Given the description of an element on the screen output the (x, y) to click on. 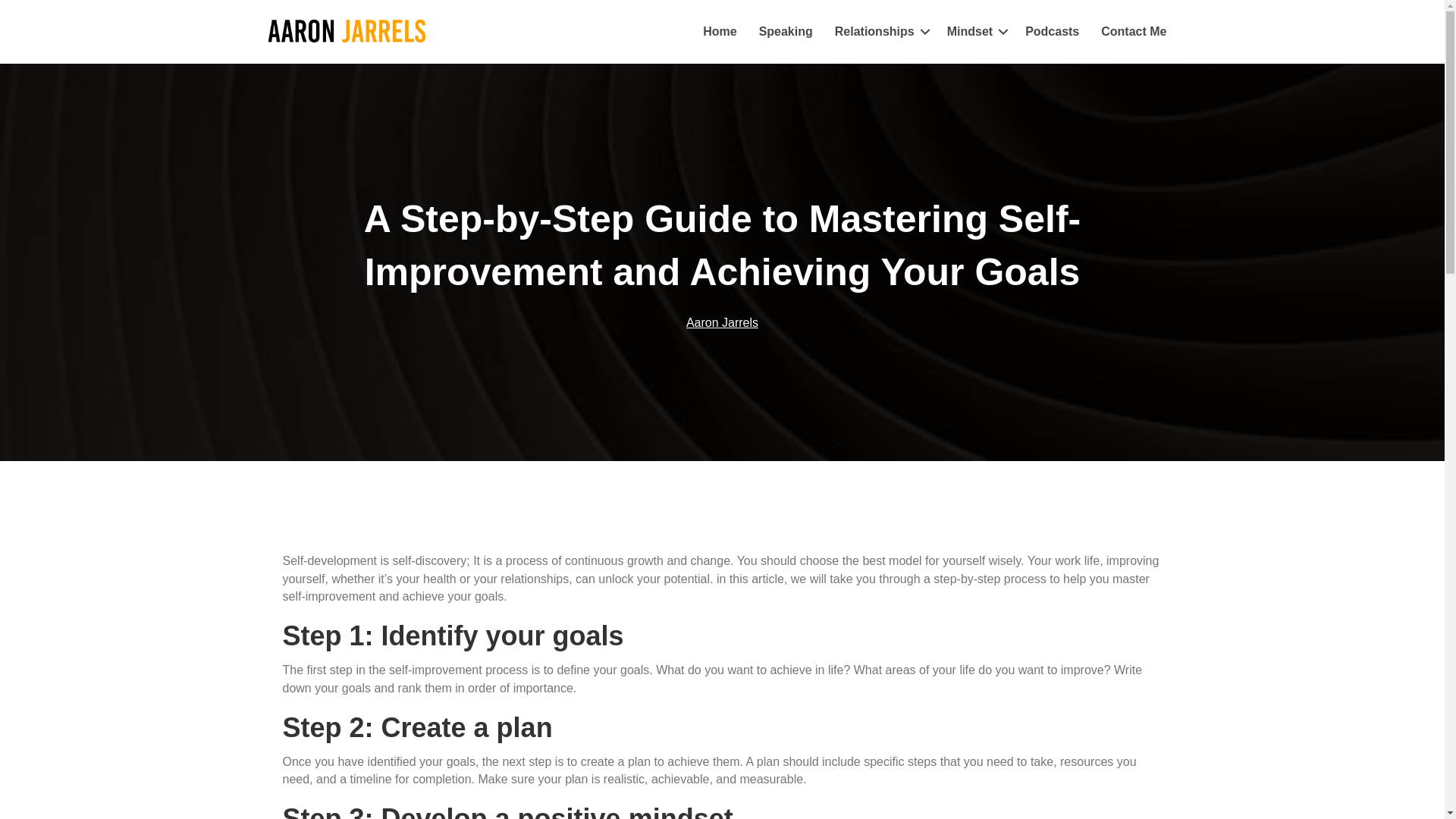
Long Logo (345, 31)
Relationships (880, 31)
Home (719, 31)
Speaking (786, 31)
Mindset (974, 31)
Contact Me (1133, 31)
Aaron Jarrels (721, 322)
Podcasts (1051, 31)
